Given the description of an element on the screen output the (x, y) to click on. 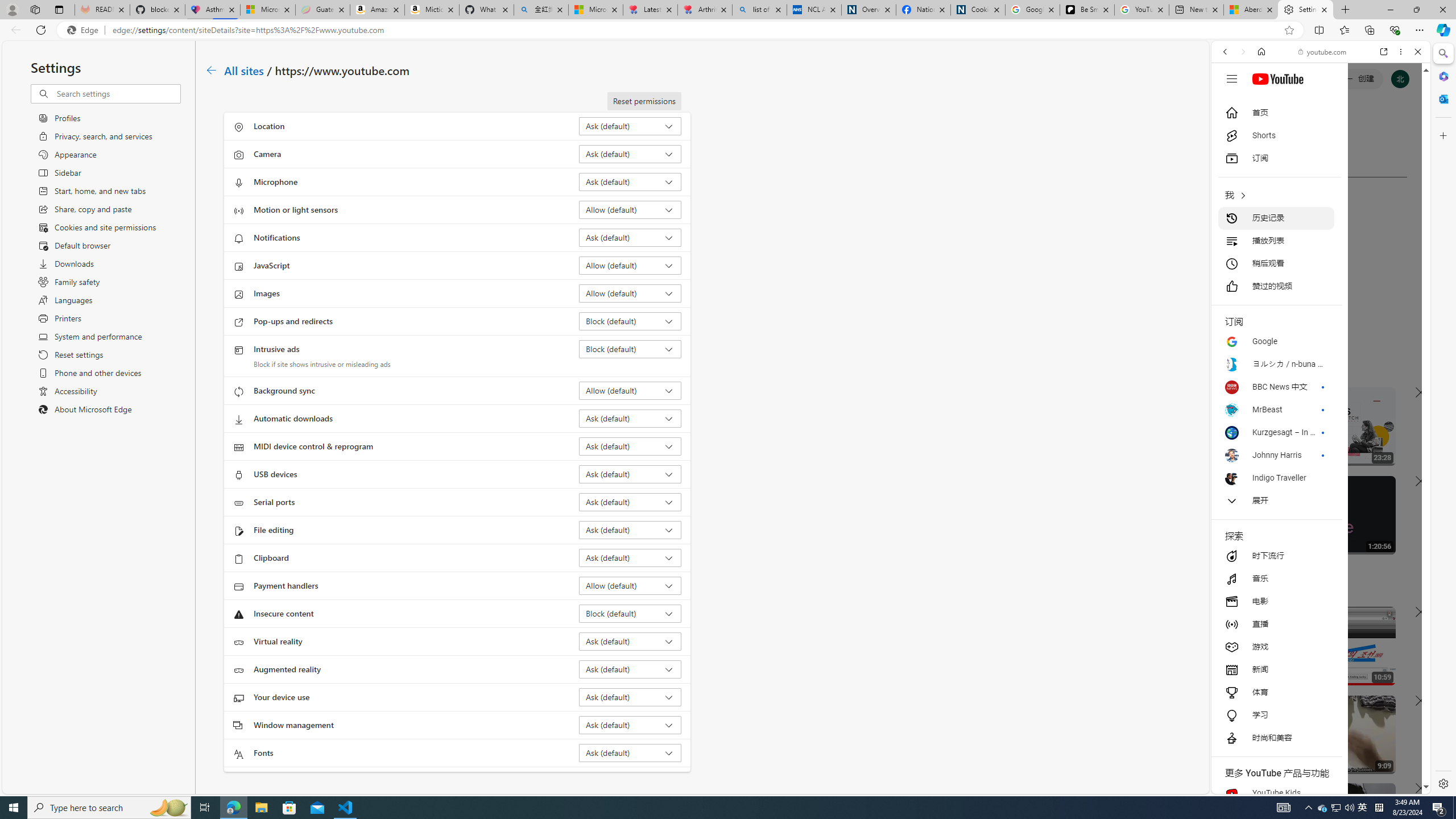
Serial ports Ask (default) (630, 502)
Location Ask (default) (630, 126)
